Given the description of an element on the screen output the (x, y) to click on. 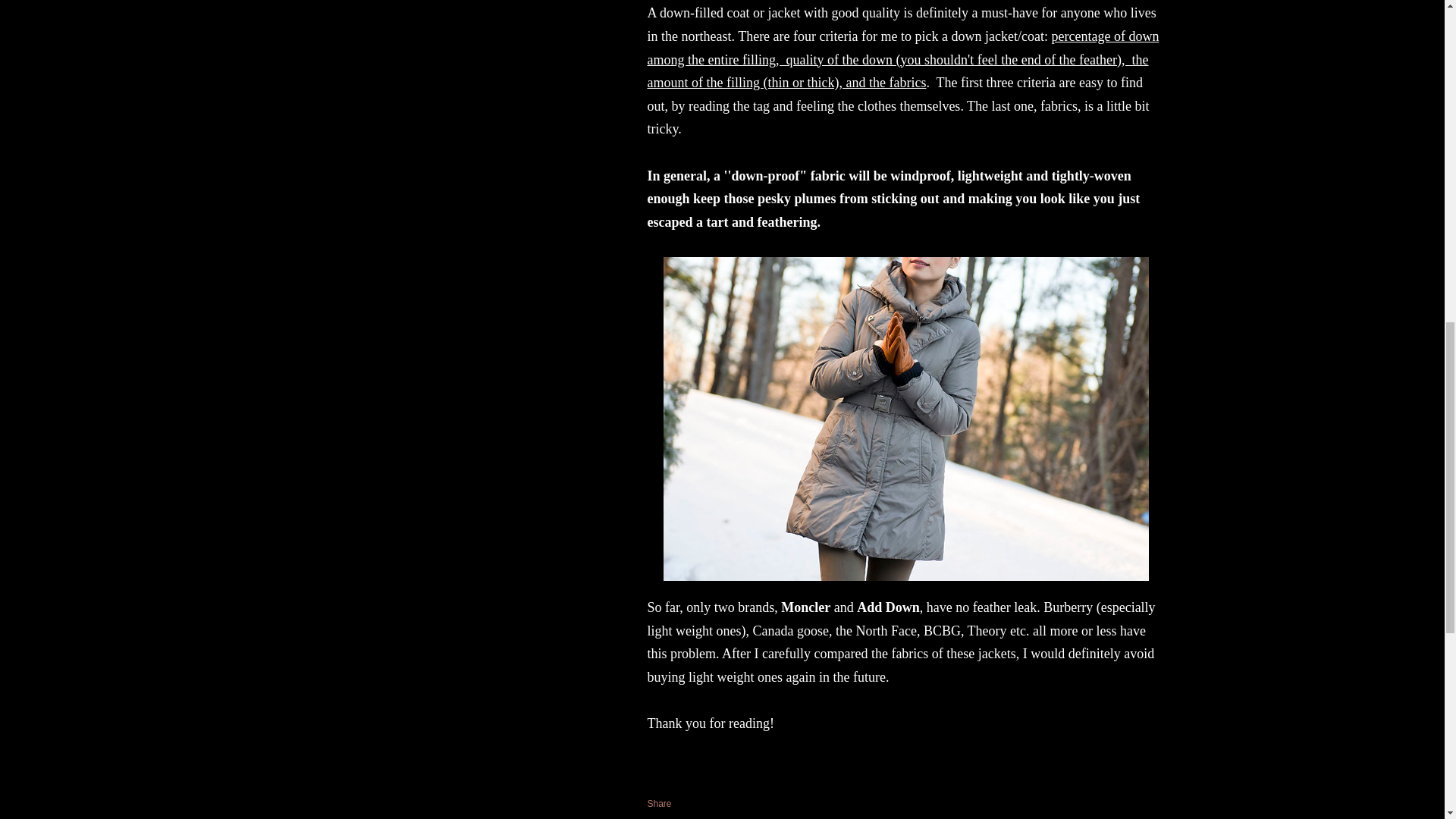
Share (659, 803)
